Given the description of an element on the screen output the (x, y) to click on. 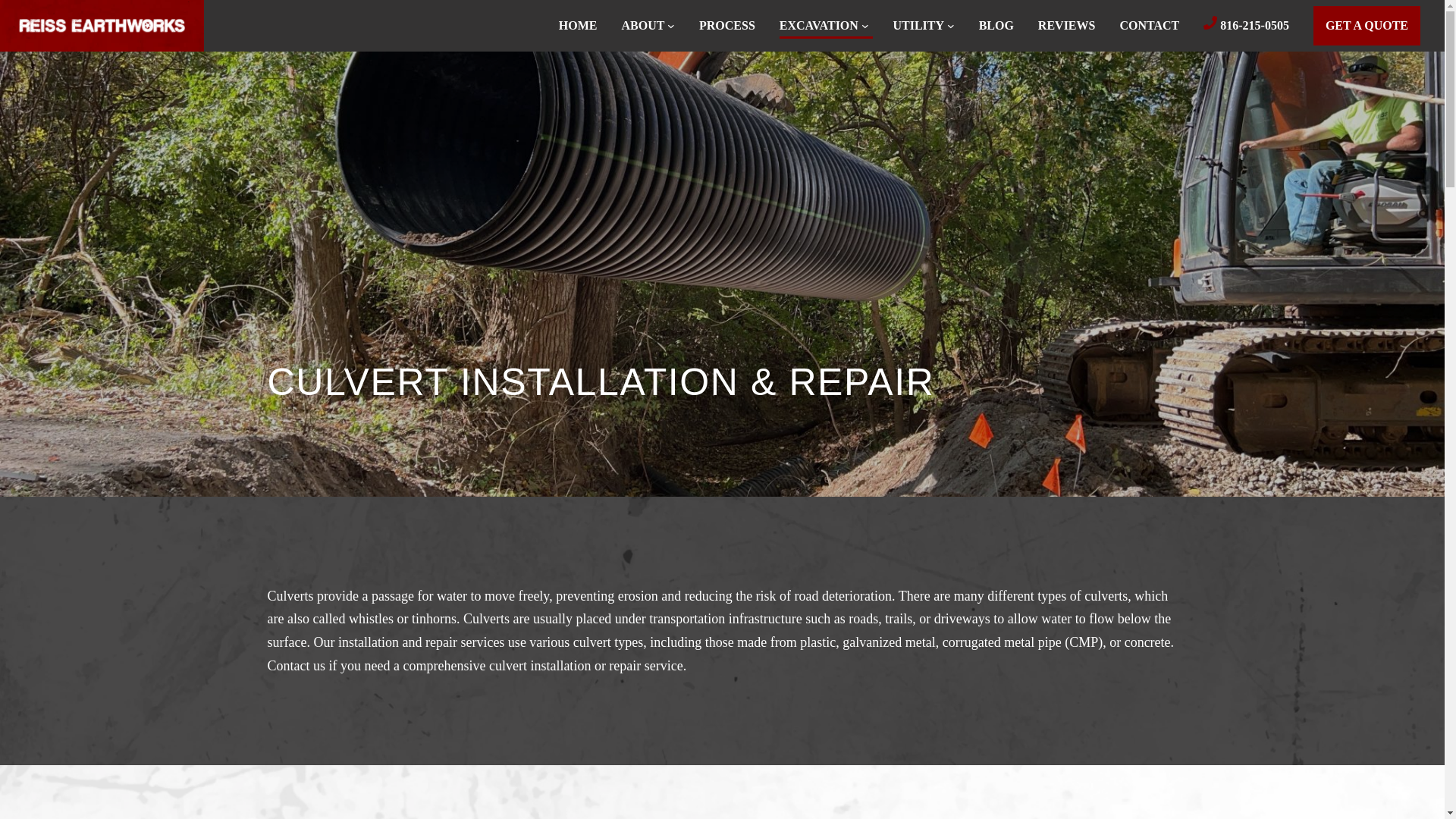
816-215-0505 (1246, 25)
CONTACT (1149, 25)
REVIEWS (1067, 25)
GET A QUOTE (1367, 25)
EXCAVATION (818, 25)
ABOUT (643, 25)
UTILITY (917, 25)
HOME (577, 25)
BLOG (995, 25)
PROCESS (726, 25)
